Given the description of an element on the screen output the (x, y) to click on. 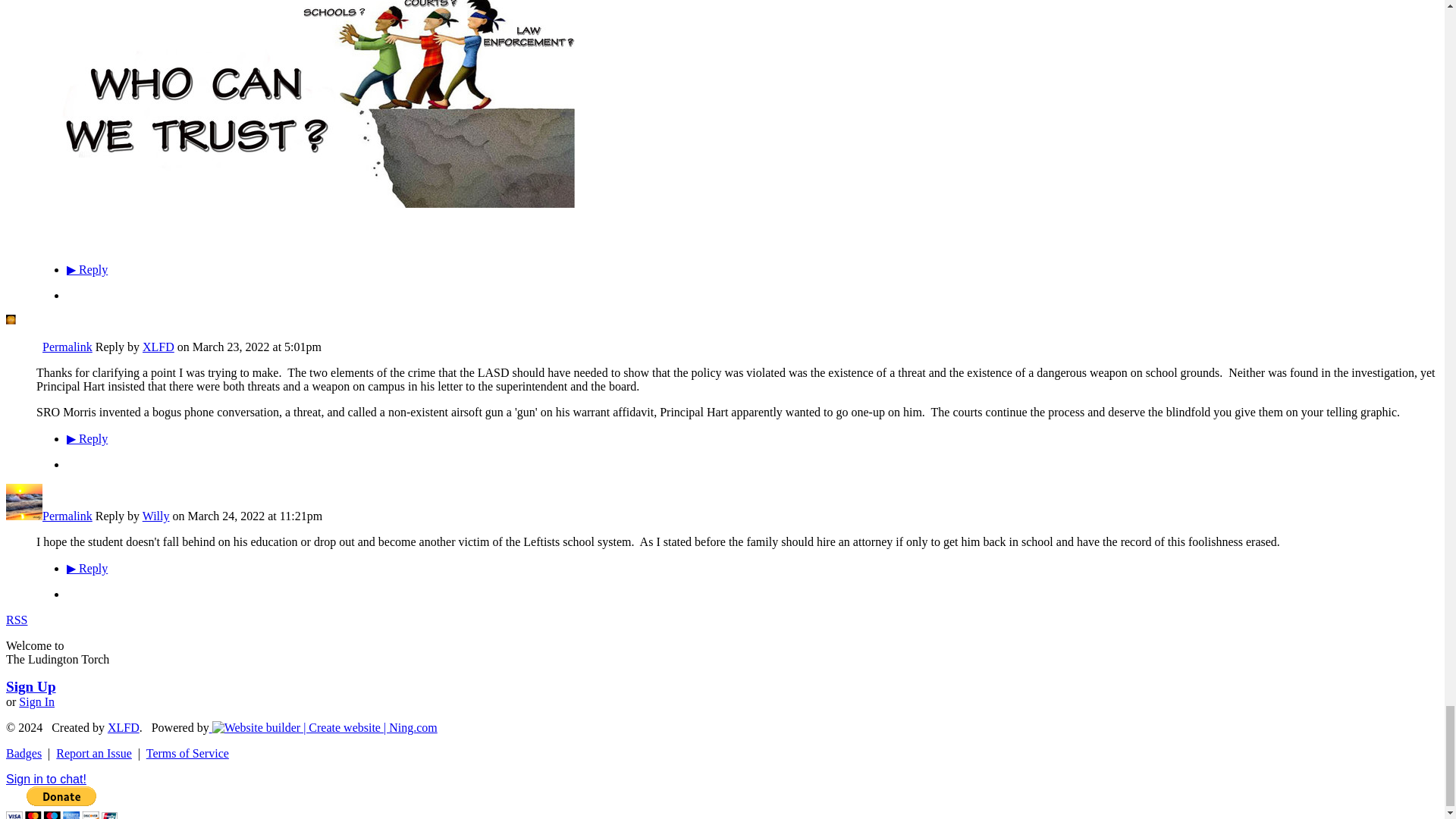
XLFD (23, 346)
Permalink to this Reply (67, 346)
